Given the description of an element on the screen output the (x, y) to click on. 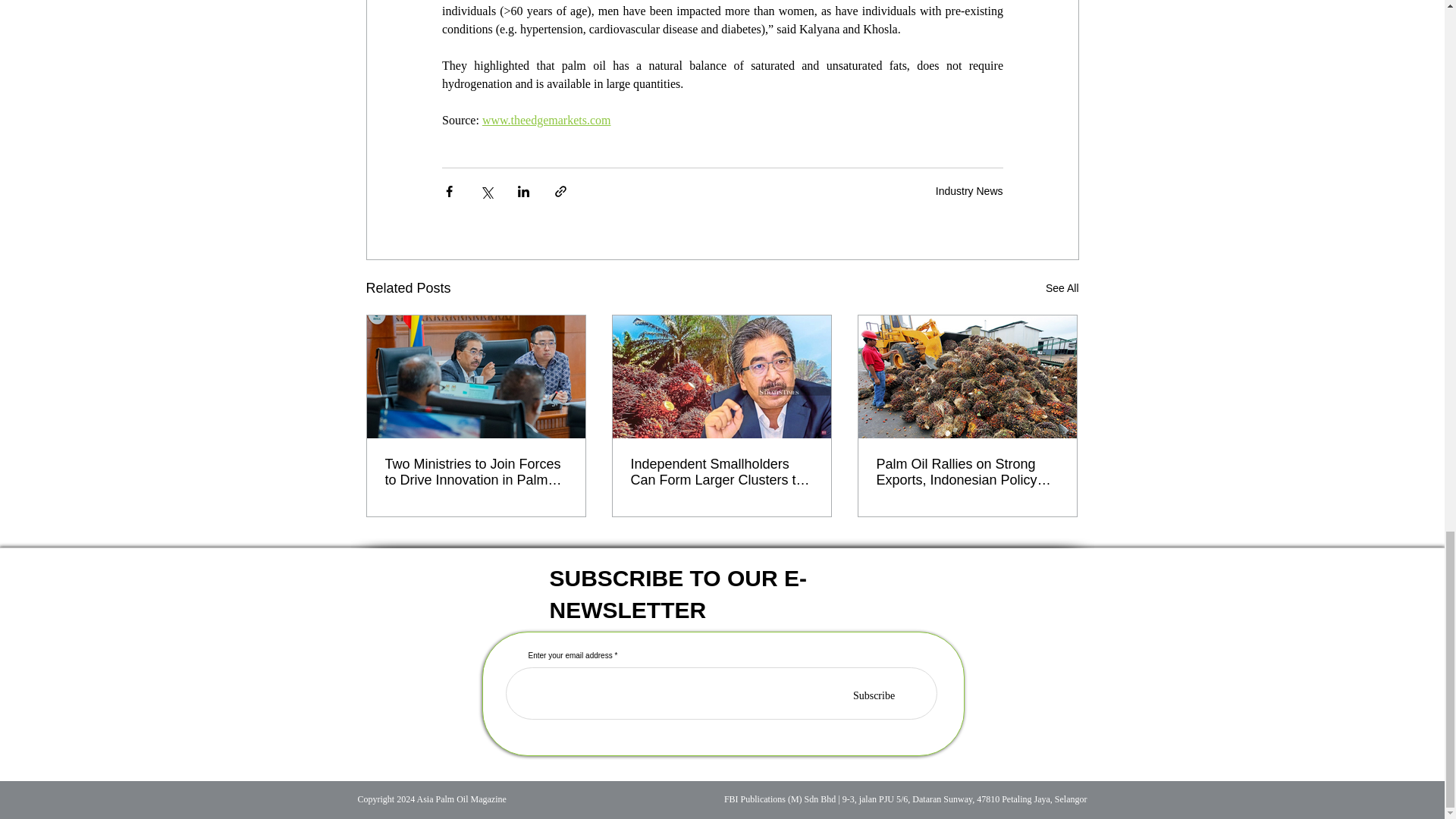
Industry News (969, 191)
See All (1061, 288)
www.theedgemarkets.com (545, 119)
